Given the description of an element on the screen output the (x, y) to click on. 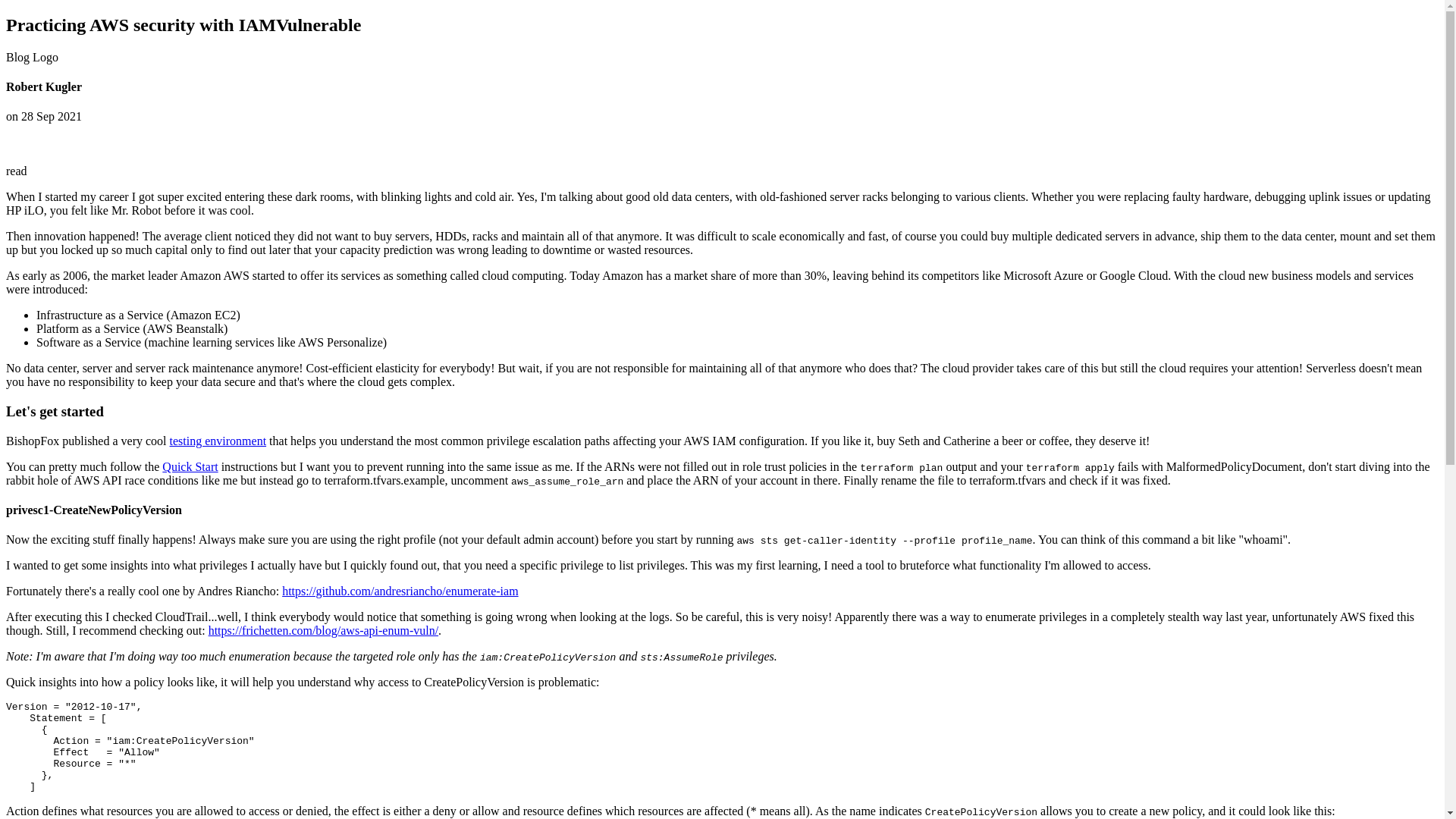
testing environment (218, 440)
Quick Start (188, 466)
